Given the description of an element on the screen output the (x, y) to click on. 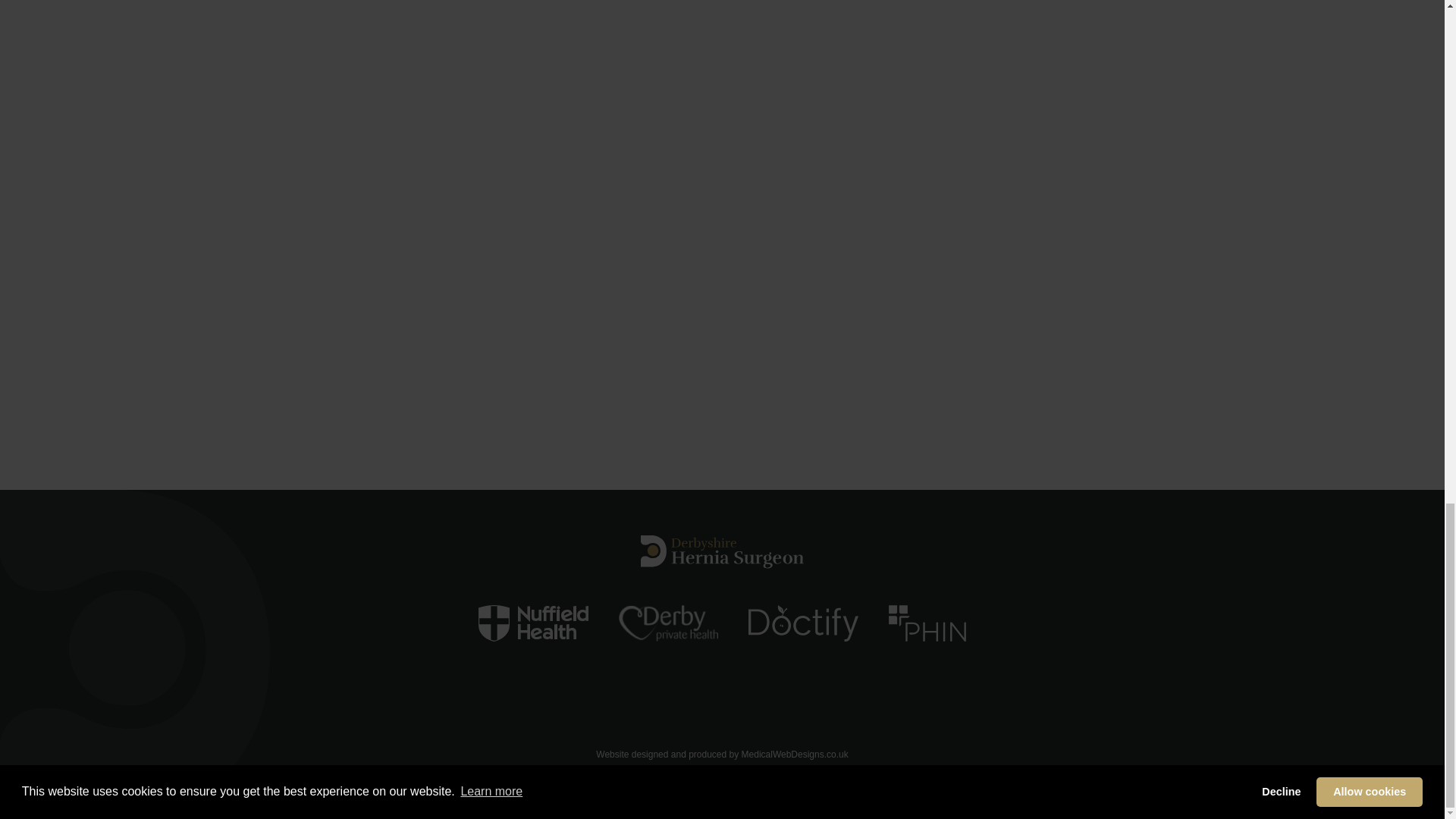
Derbyshire Hernia Surgeon (721, 551)
Derbyshire Hernia Surgeon (721, 551)
MedicalWebDesigns.co.uk (794, 754)
